Given the description of an element on the screen output the (x, y) to click on. 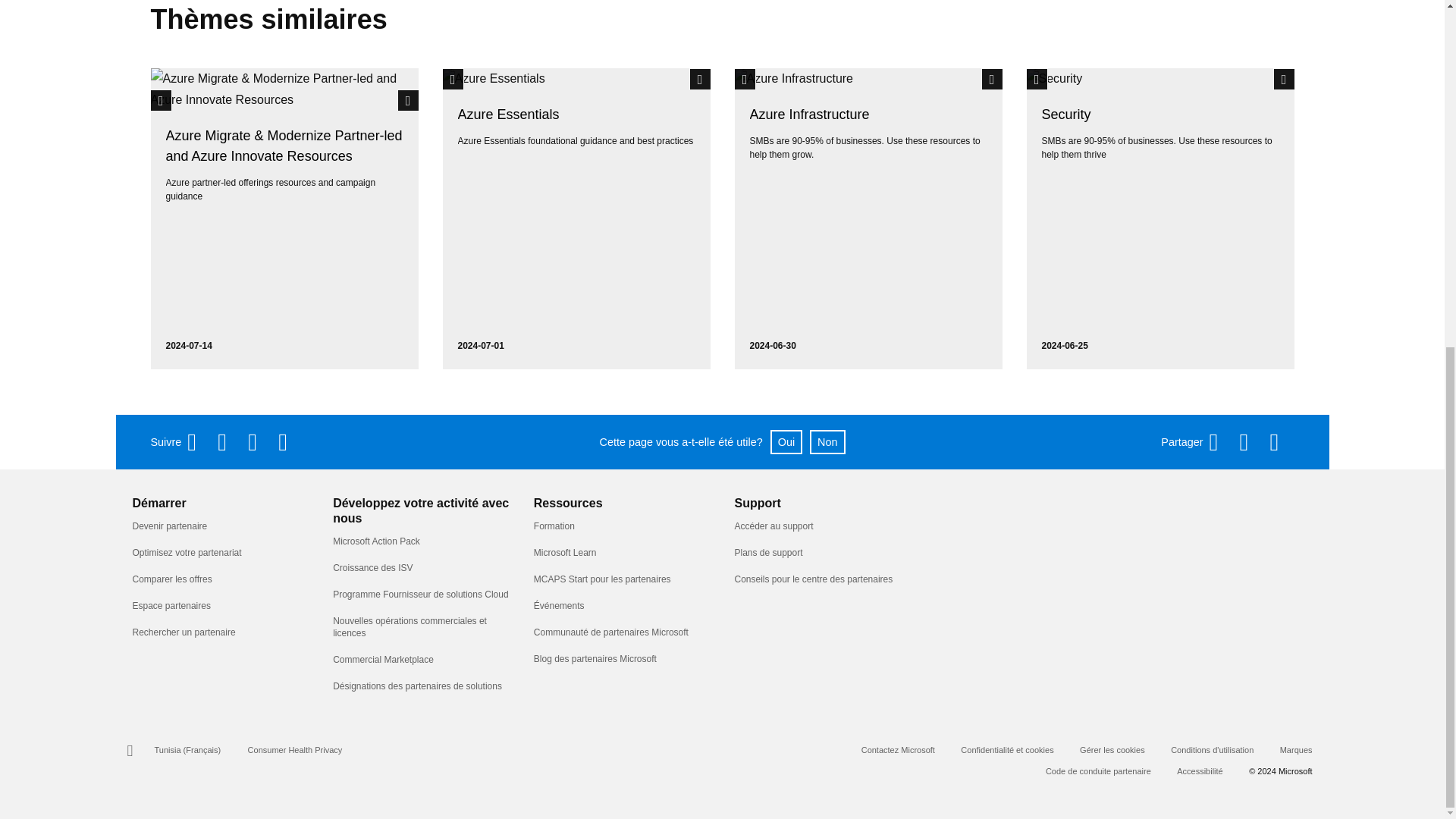
Security (1160, 78)
locked (992, 78)
Azure Infrastructure (867, 78)
collection (160, 99)
locked (699, 78)
locked (1283, 78)
Azure Essentials  (576, 78)
collection (744, 78)
collection (1037, 78)
collection (453, 78)
locked (408, 99)
